Given the description of an element on the screen output the (x, y) to click on. 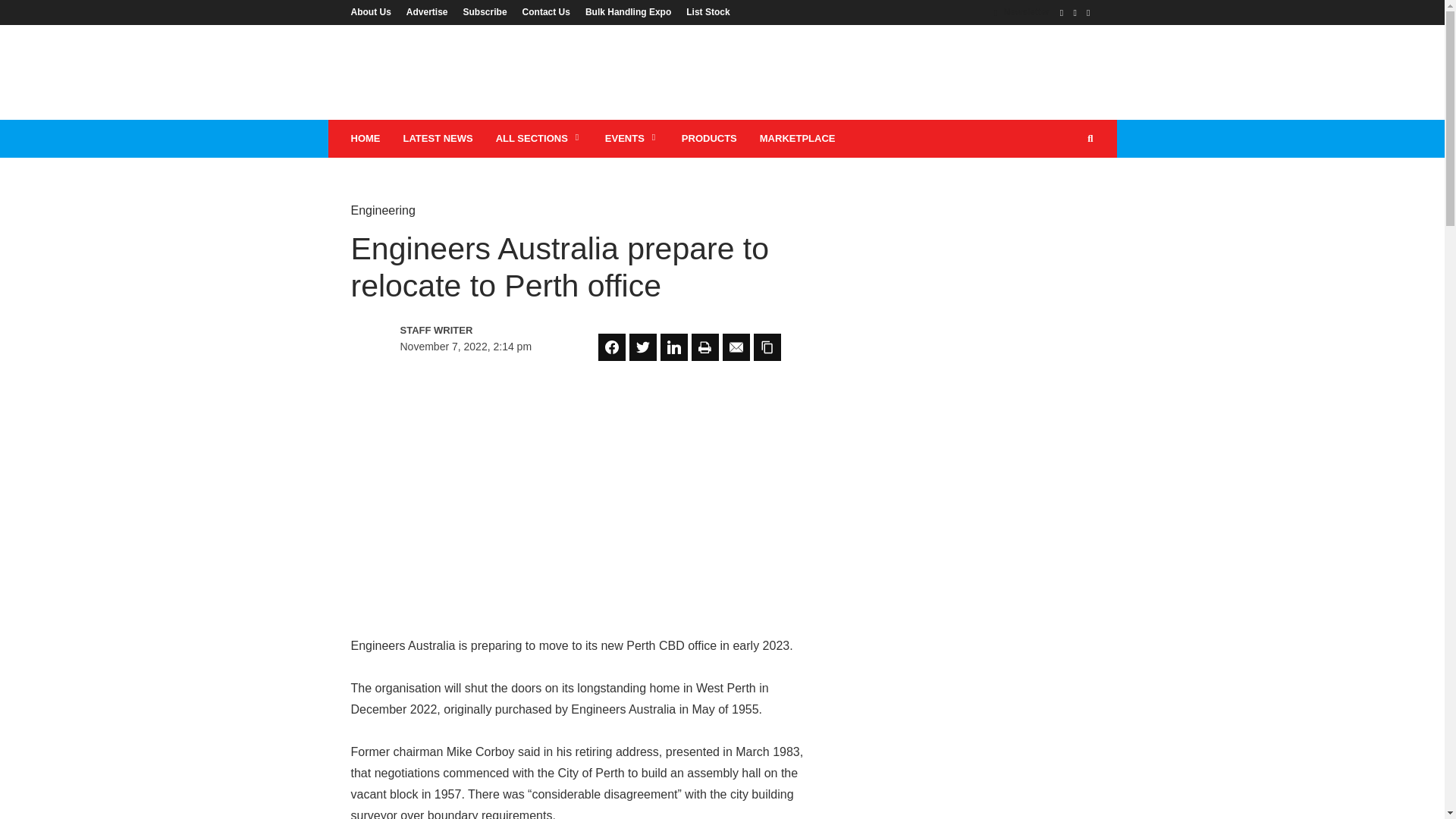
Share on Facebook (612, 347)
LATEST NEWS (437, 138)
Share on Print (705, 347)
Share on Email (735, 347)
Share on Twitter (642, 347)
Advertise (426, 11)
Bulk Handling Expo (628, 11)
Share on LinkedIn (674, 347)
Subscribe (485, 11)
Contact Us (546, 11)
About Us (373, 11)
List Stock (703, 11)
HOME (365, 138)
View all posts by Staff Writer (465, 330)
ALL SECTIONS (539, 138)
